Given the description of an element on the screen output the (x, y) to click on. 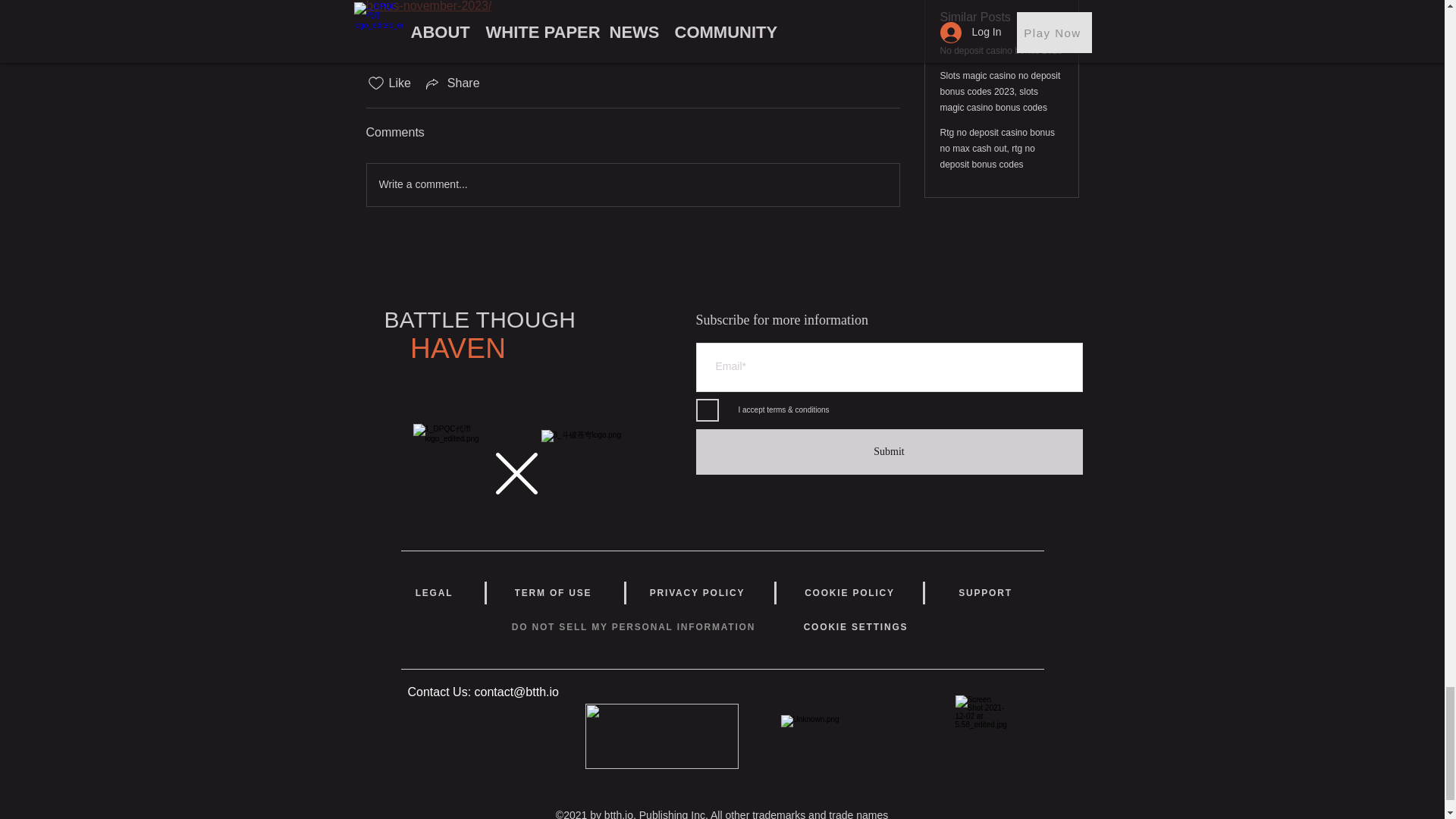
COOKIE SETTINGS (856, 626)
Write a comment... (632, 184)
COOKIE POLICY (849, 593)
DO NOT SELL MY PERSONAL INFORMATION (633, 626)
LEGAL (433, 593)
TERM OF USE (552, 593)
130658v888mz5s776epg3e.png (661, 736)
PRIVACY POLICY (696, 593)
Submit (889, 452)
SUPPORT (984, 593)
